Given the description of an element on the screen output the (x, y) to click on. 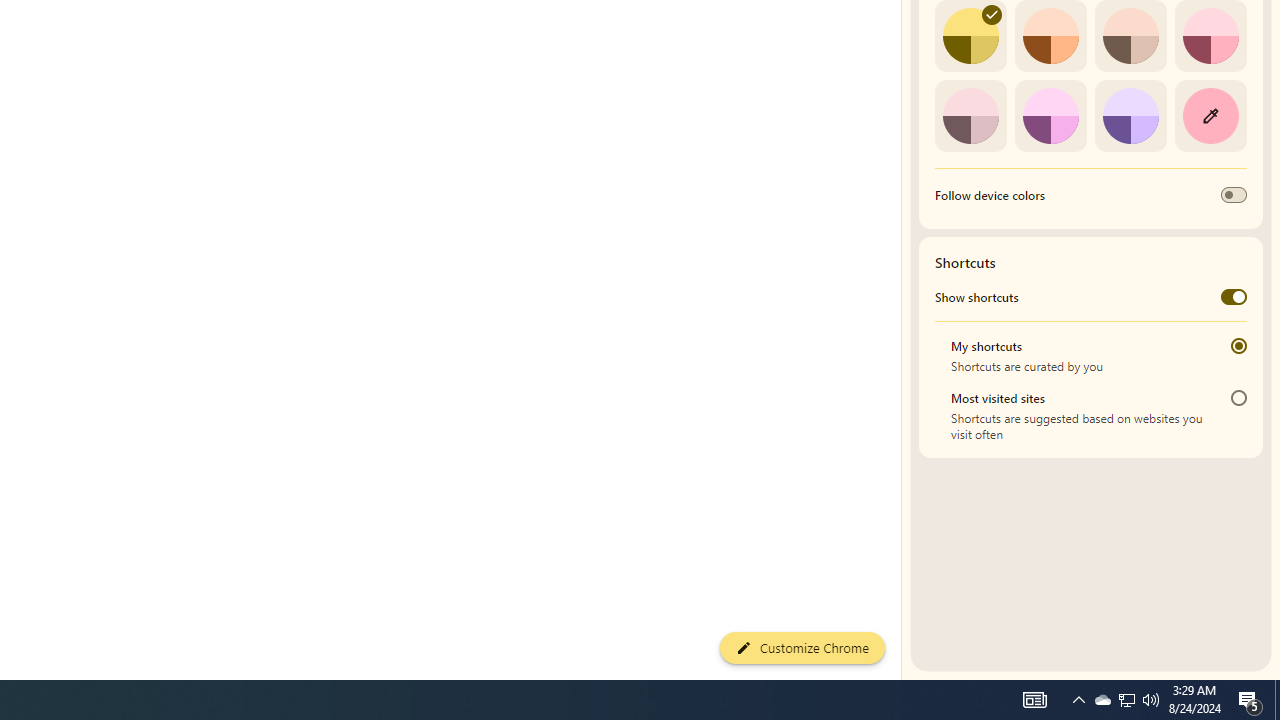
Follow device colors (1233, 195)
Pink (970, 115)
Side Panel Resize Handle (905, 39)
Customize Chrome (801, 647)
Fuchsia (1050, 115)
Violet (1130, 115)
Orange (1050, 36)
Rose (1210, 36)
Citron (970, 36)
Most visited sites (1238, 398)
Apricot (1130, 36)
Show shortcuts (1233, 296)
Custom color (1210, 115)
AutomationID: svg (991, 15)
